Given the description of an element on the screen output the (x, y) to click on. 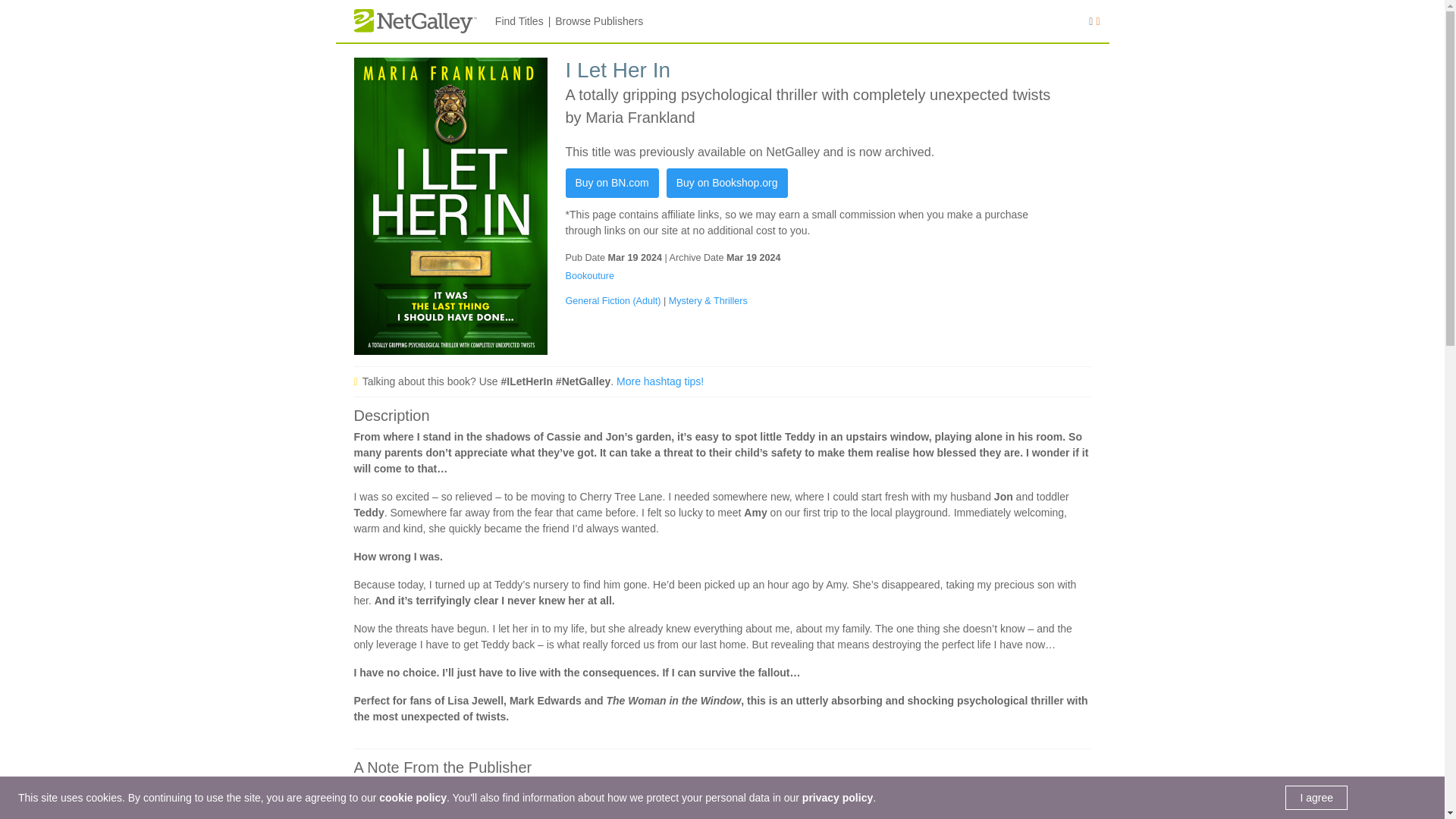
Find Titles (519, 21)
Buy on Bookshop.org (726, 183)
Browse Publishers (598, 21)
Bookouture (590, 276)
Buy on BN.com (612, 183)
More hashtag tips! (659, 381)
